Given the description of an element on the screen output the (x, y) to click on. 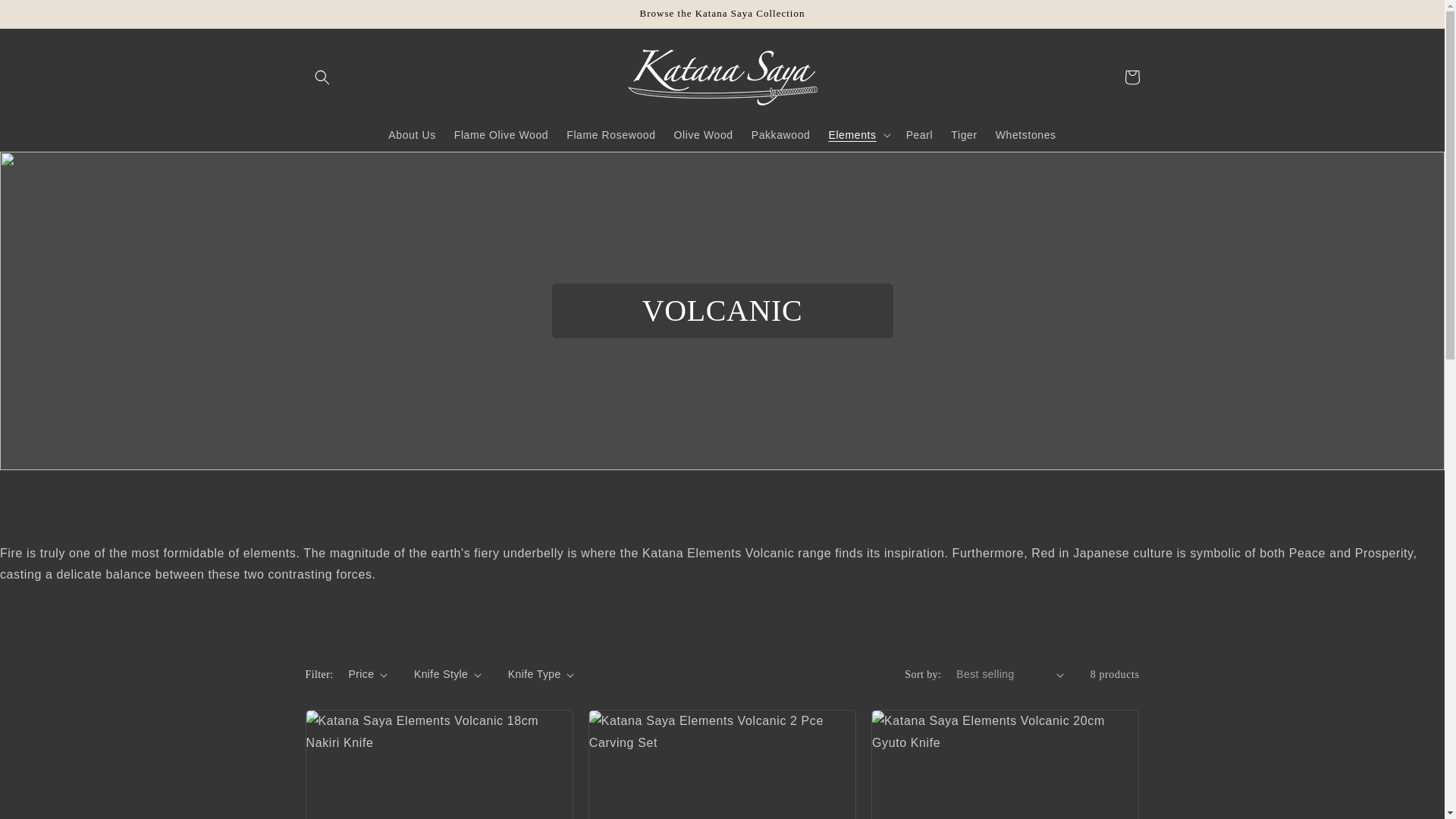
Pakkawood (780, 134)
Cart (1131, 77)
Skip to content (45, 17)
About Us (411, 134)
Pearl (919, 134)
Whetstones (1026, 134)
Flame Rosewood (610, 134)
Tiger (963, 134)
Flame Olive Wood (501, 134)
Olive Wood (703, 134)
